Given the description of an element on the screen output the (x, y) to click on. 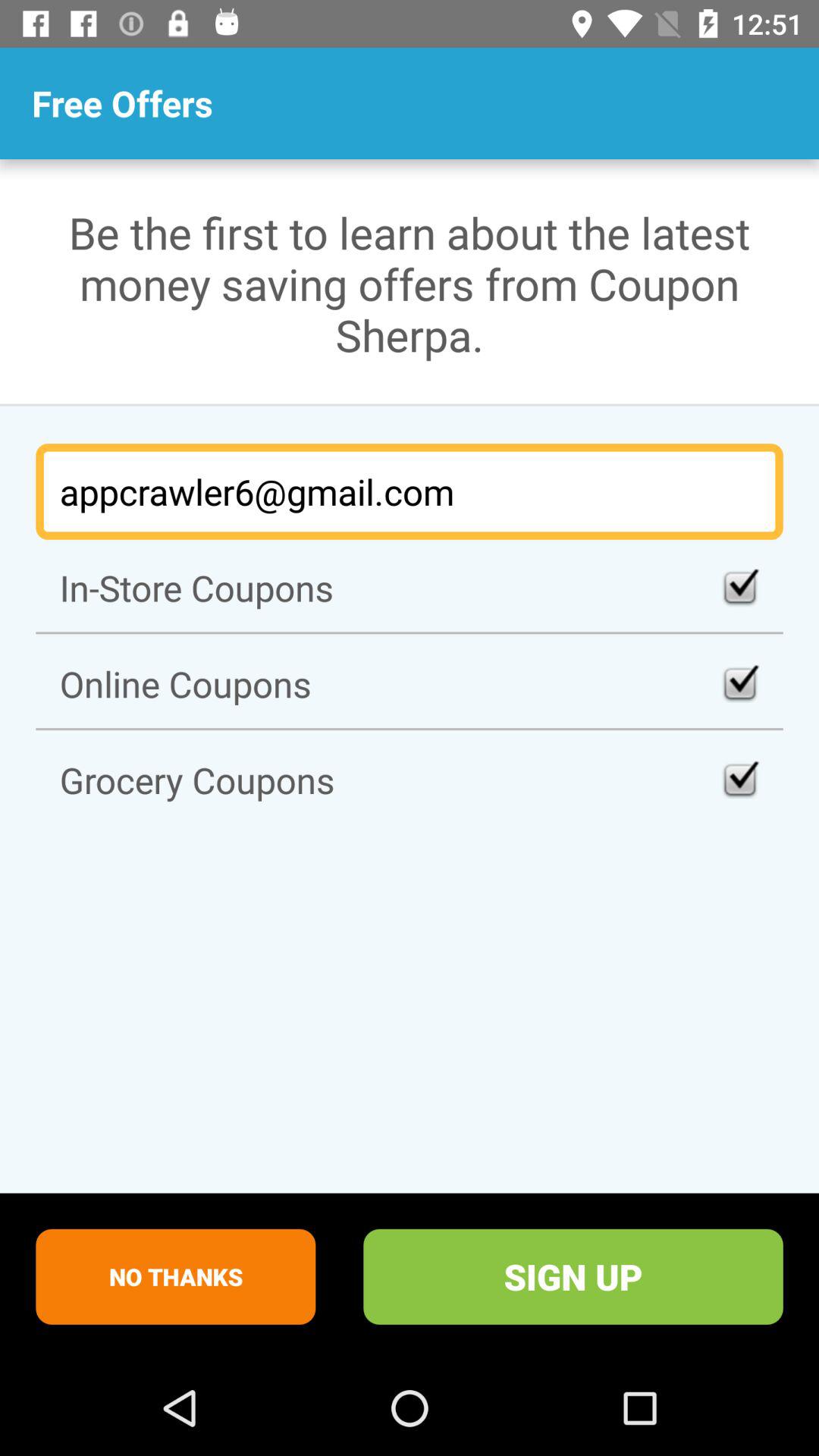
launch appcrawler6@gmail.com item (409, 491)
